Given the description of an element on the screen output the (x, y) to click on. 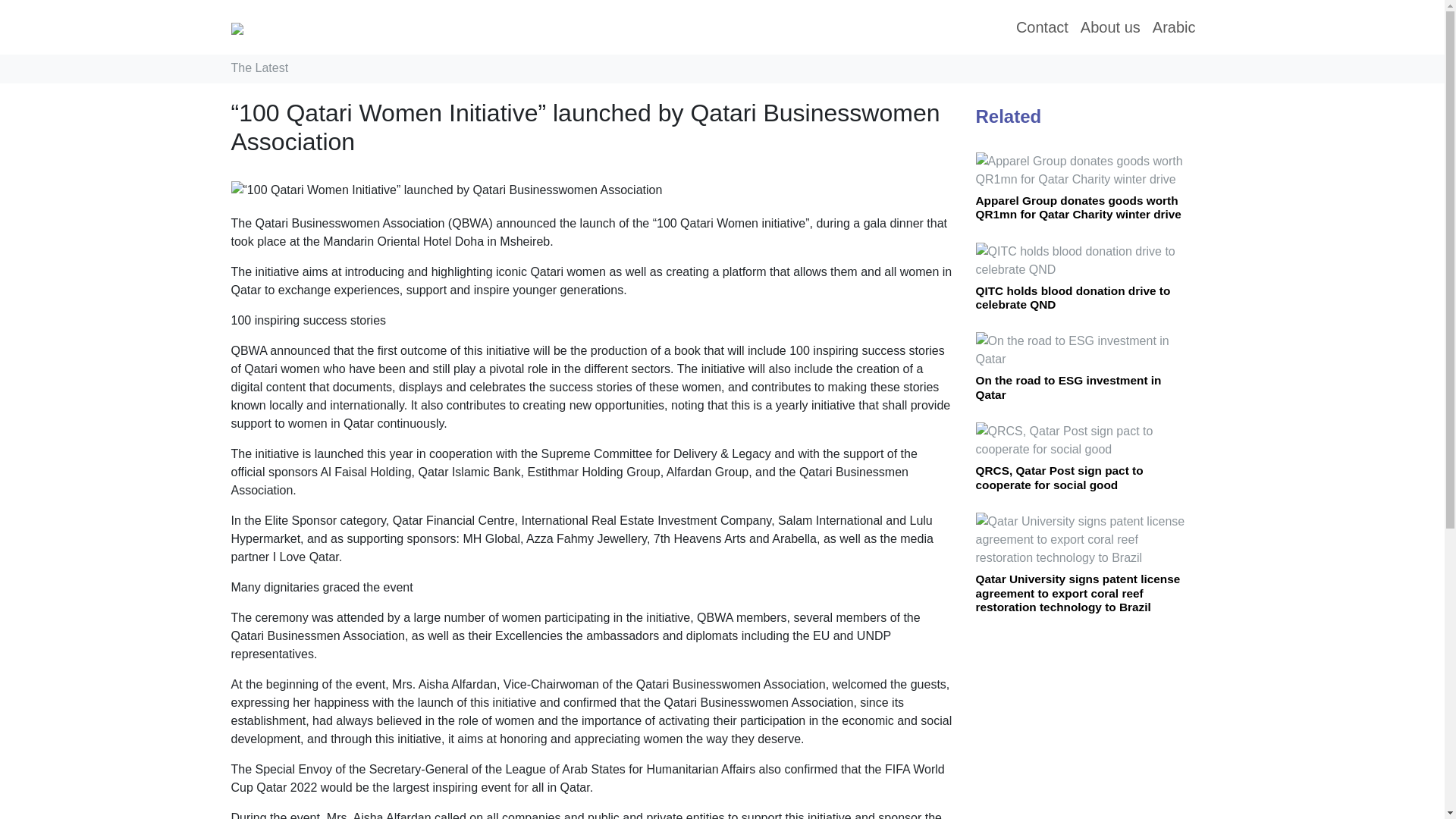
Arabic (1174, 27)
QRCS, Qatar Post sign pact to cooperate for social good (1058, 477)
QITC holds blood donation drive to celebrate QND (1072, 297)
The Latest (259, 67)
About us (1110, 27)
Contact (1042, 27)
On the road to ESG investment in Qatar (1067, 386)
The Latest (259, 67)
